Given the description of an element on the screen output the (x, y) to click on. 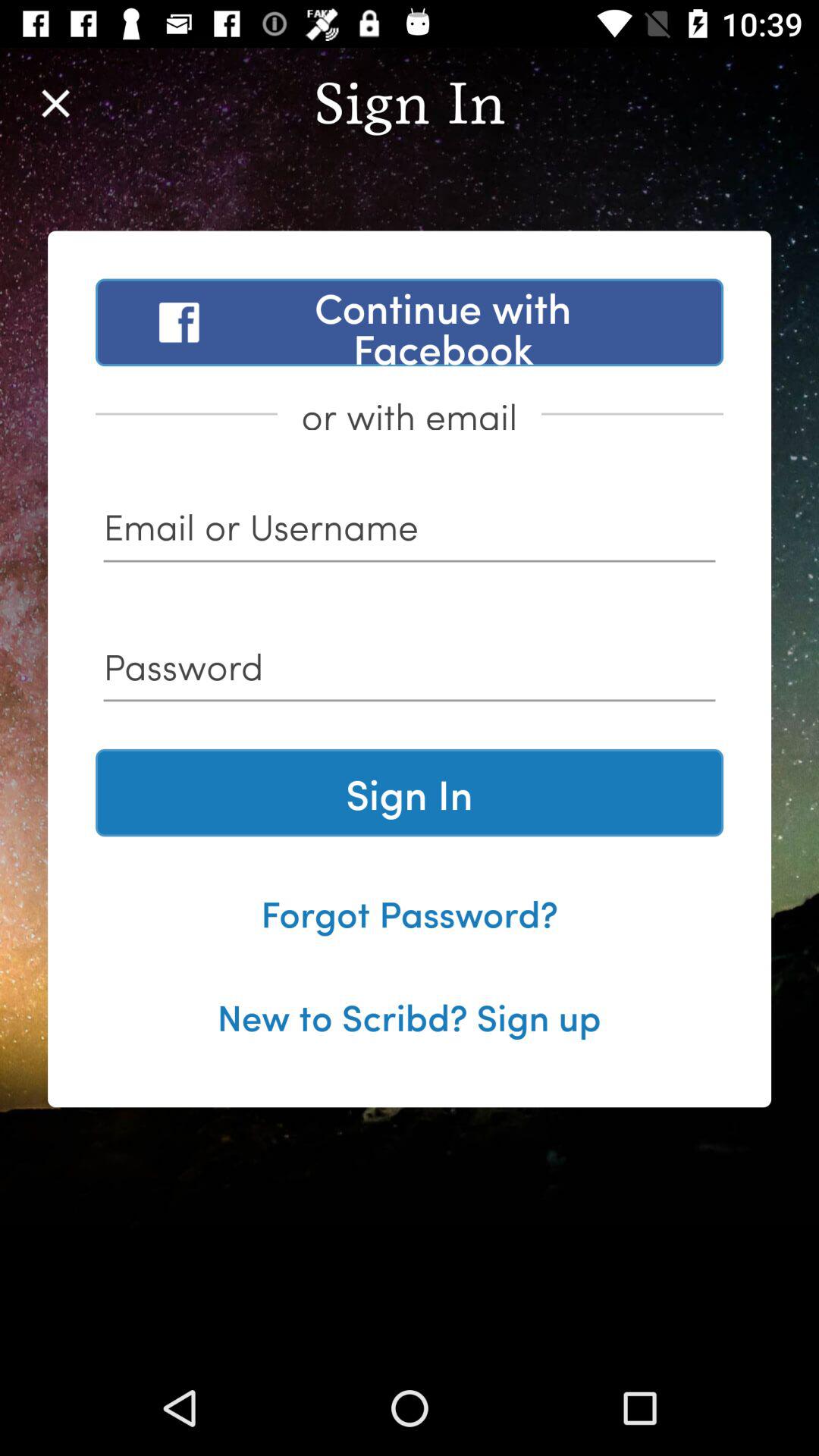
jump until the new to scribd (409, 1015)
